Given the description of an element on the screen output the (x, y) to click on. 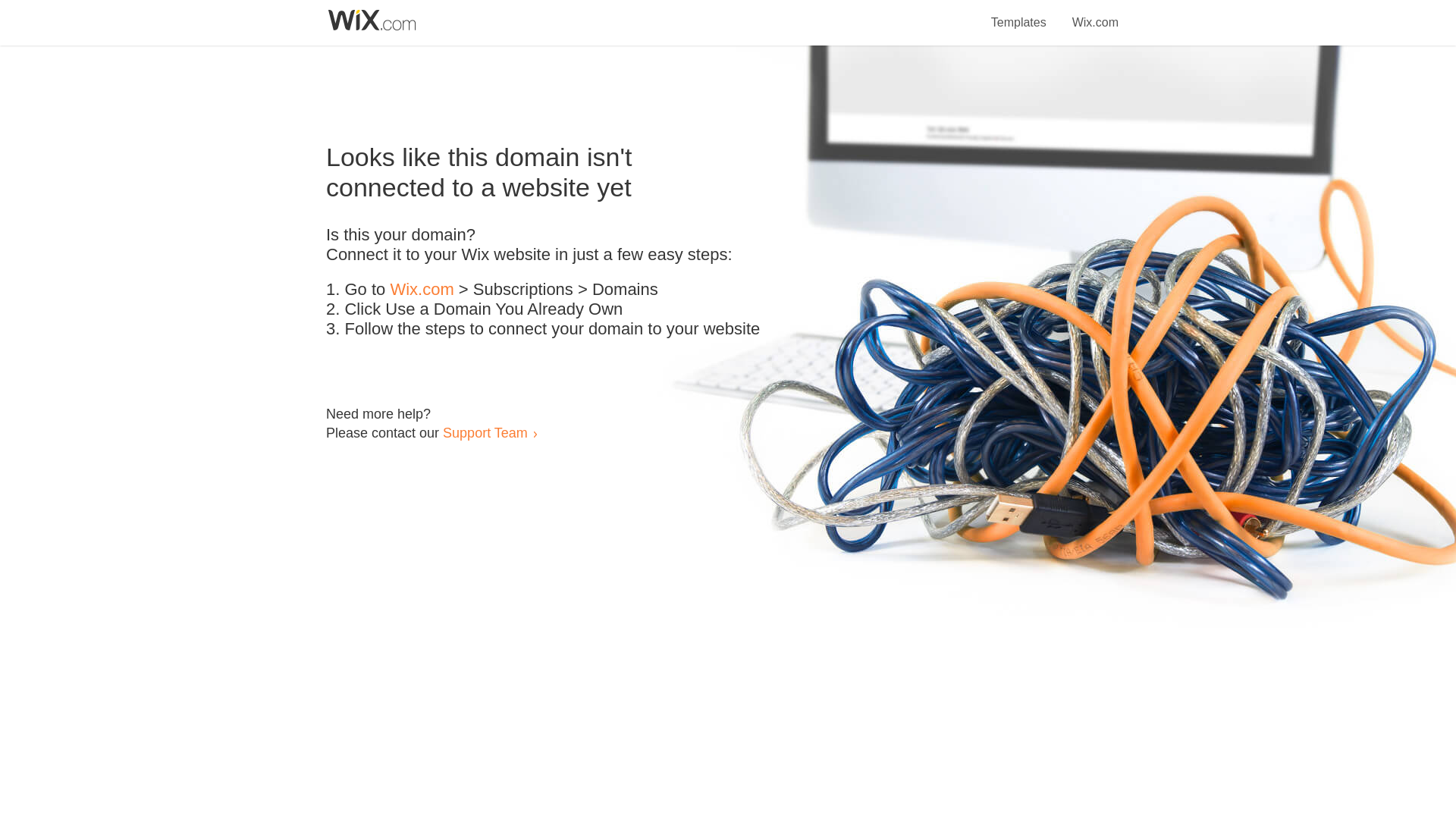
Support Team (484, 432)
Wix.com (1095, 14)
Templates (1018, 14)
Wix.com (421, 289)
